Given the description of an element on the screen output the (x, y) to click on. 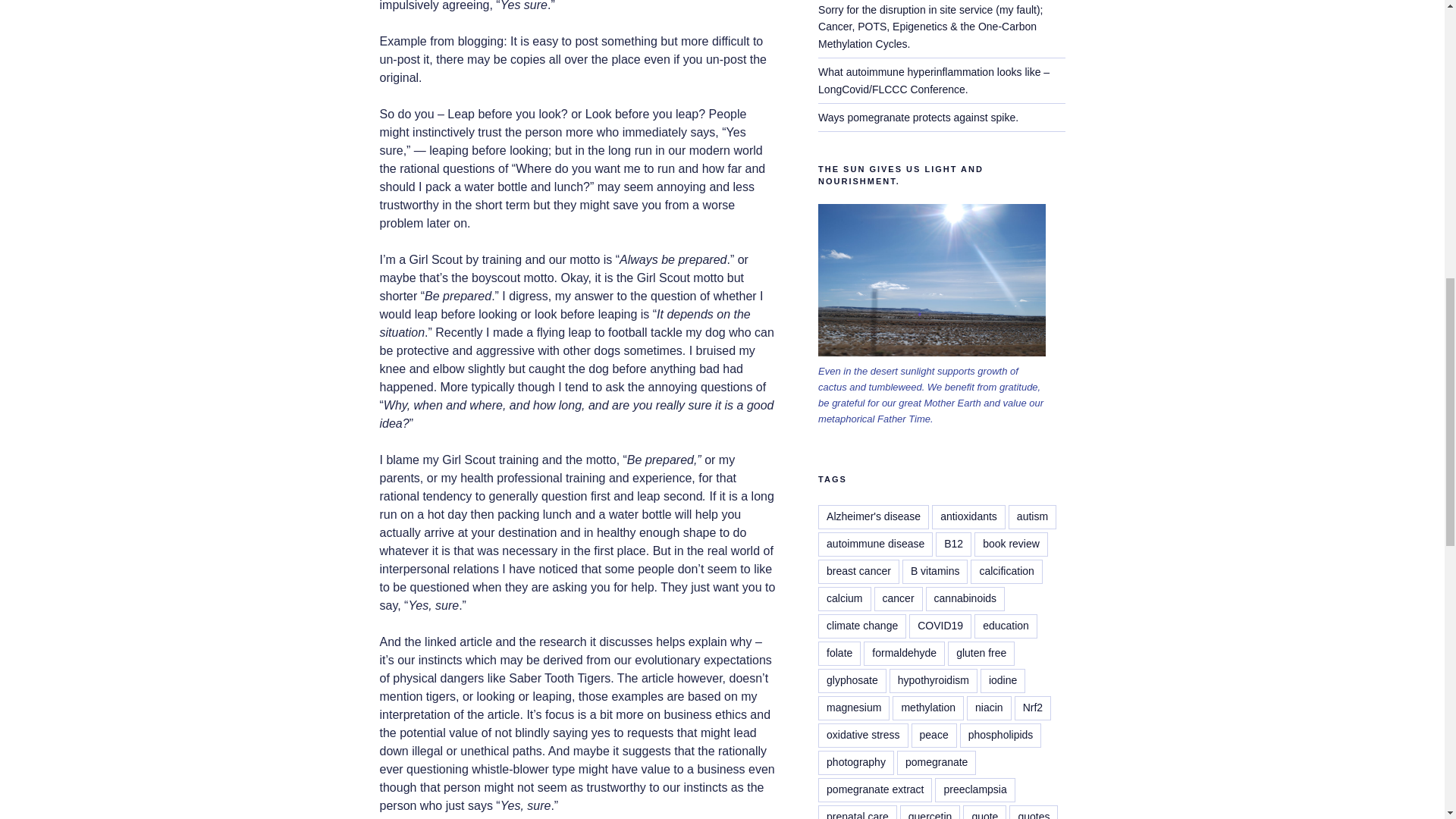
Ways pomegranate protects against spike. (917, 117)
Alzheimer's disease (873, 517)
autism (1033, 517)
B12 (953, 544)
antioxidants (968, 517)
autoimmune disease (875, 544)
